Given the description of an element on the screen output the (x, y) to click on. 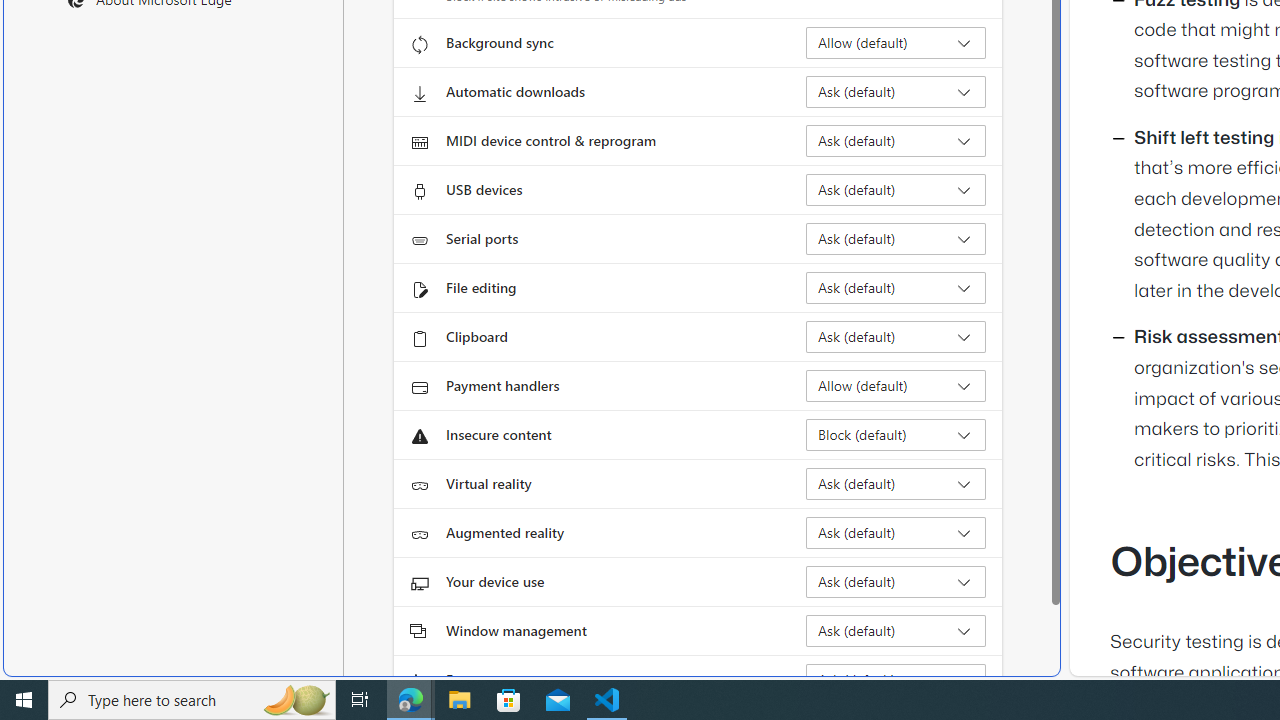
File editing Ask (default) (895, 287)
Augmented reality Ask (default) (895, 532)
Background sync Allow (default) (895, 43)
Window management Ask (default) (895, 630)
Virtual reality Ask (default) (895, 483)
Payment handlers Allow (default) (895, 385)
Automatic downloads Ask (default) (895, 92)
Insecure content Block (default) (895, 434)
Clipboard Ask (default) (895, 336)
Your device use Ask (default) (895, 581)
USB devices Ask (default) (895, 189)
MIDI device control & reprogram Ask (default) (895, 140)
Serial ports Ask (default) (895, 238)
Fonts Ask (default) (895, 679)
